Given the description of an element on the screen output the (x, y) to click on. 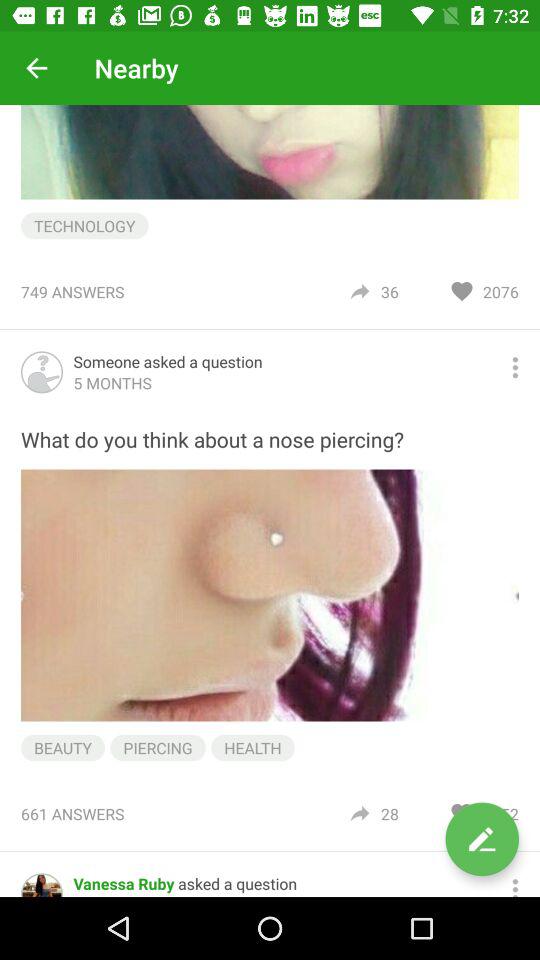
click app next to nearby app (36, 68)
